Given the description of an element on the screen output the (x, y) to click on. 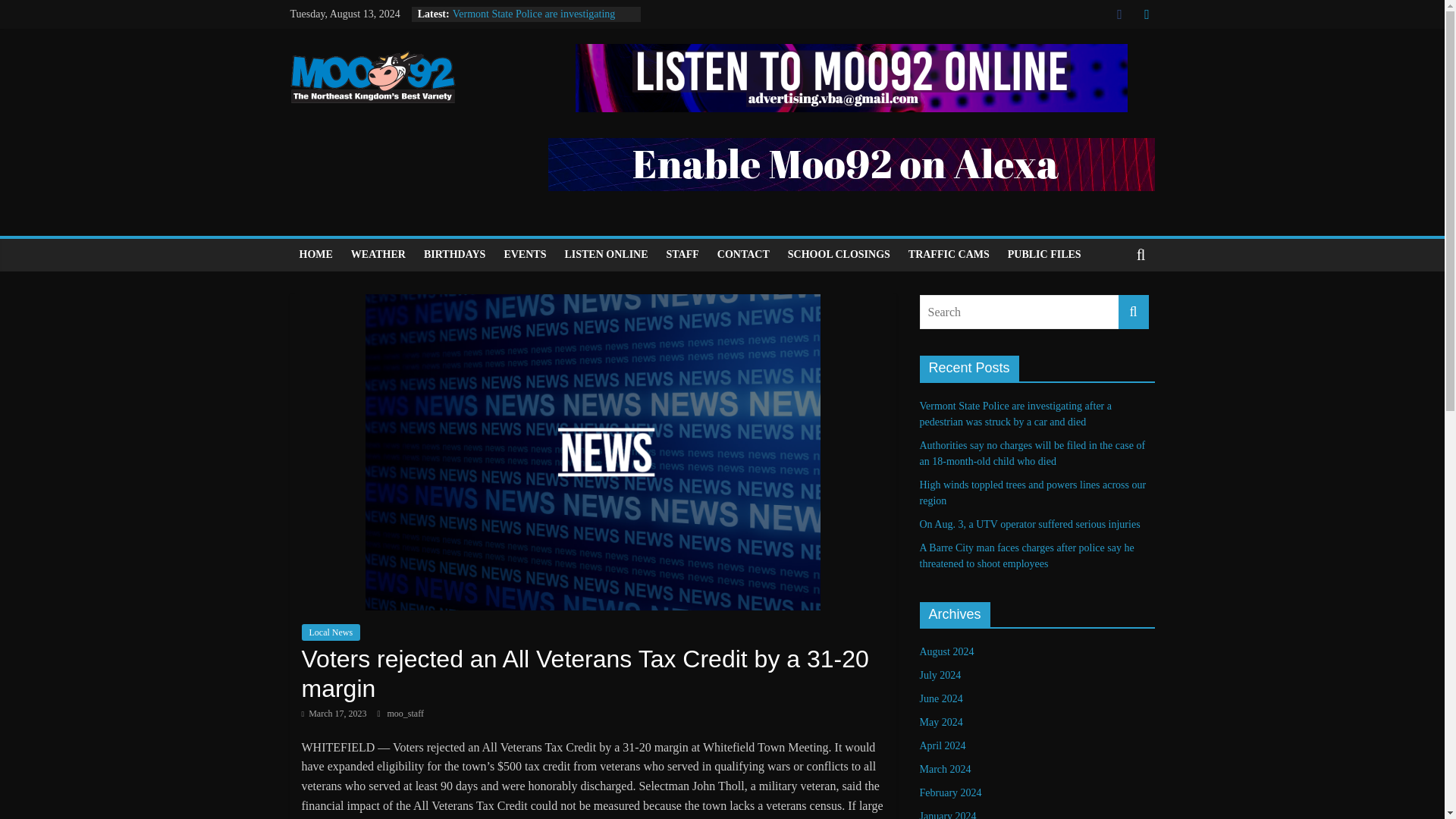
TRAFFIC CAMS (948, 255)
August 2024 (946, 651)
April 2024 (941, 745)
June 2024 (940, 698)
EVENTS (524, 255)
On Aug. 3, a UTV operator suffered serious injuries (1029, 523)
STAFF (682, 255)
High winds toppled trees and powers lines across our region (1031, 492)
